Given the description of an element on the screen output the (x, y) to click on. 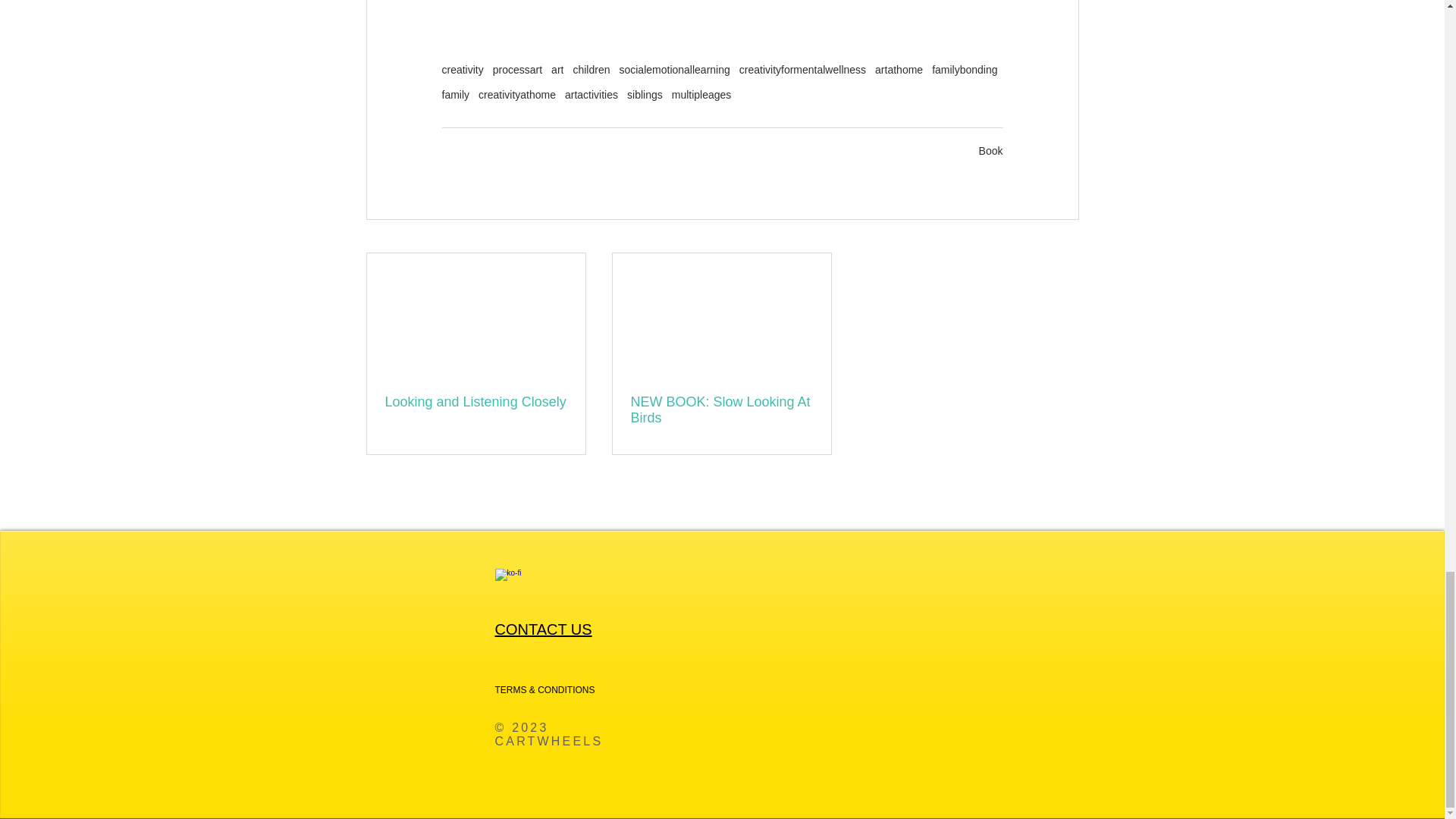
processart (517, 69)
art (557, 69)
creativityathome (517, 94)
artactivities (590, 94)
siblings (644, 94)
children (591, 69)
artathome (899, 69)
family (454, 94)
Looking and Listening Closely (476, 401)
creativityformentalwellness (802, 69)
CONTACT US (543, 629)
Book (990, 150)
creativity (462, 69)
socialemotionallearning (673, 69)
familybonding (964, 69)
